Given the description of an element on the screen output the (x, y) to click on. 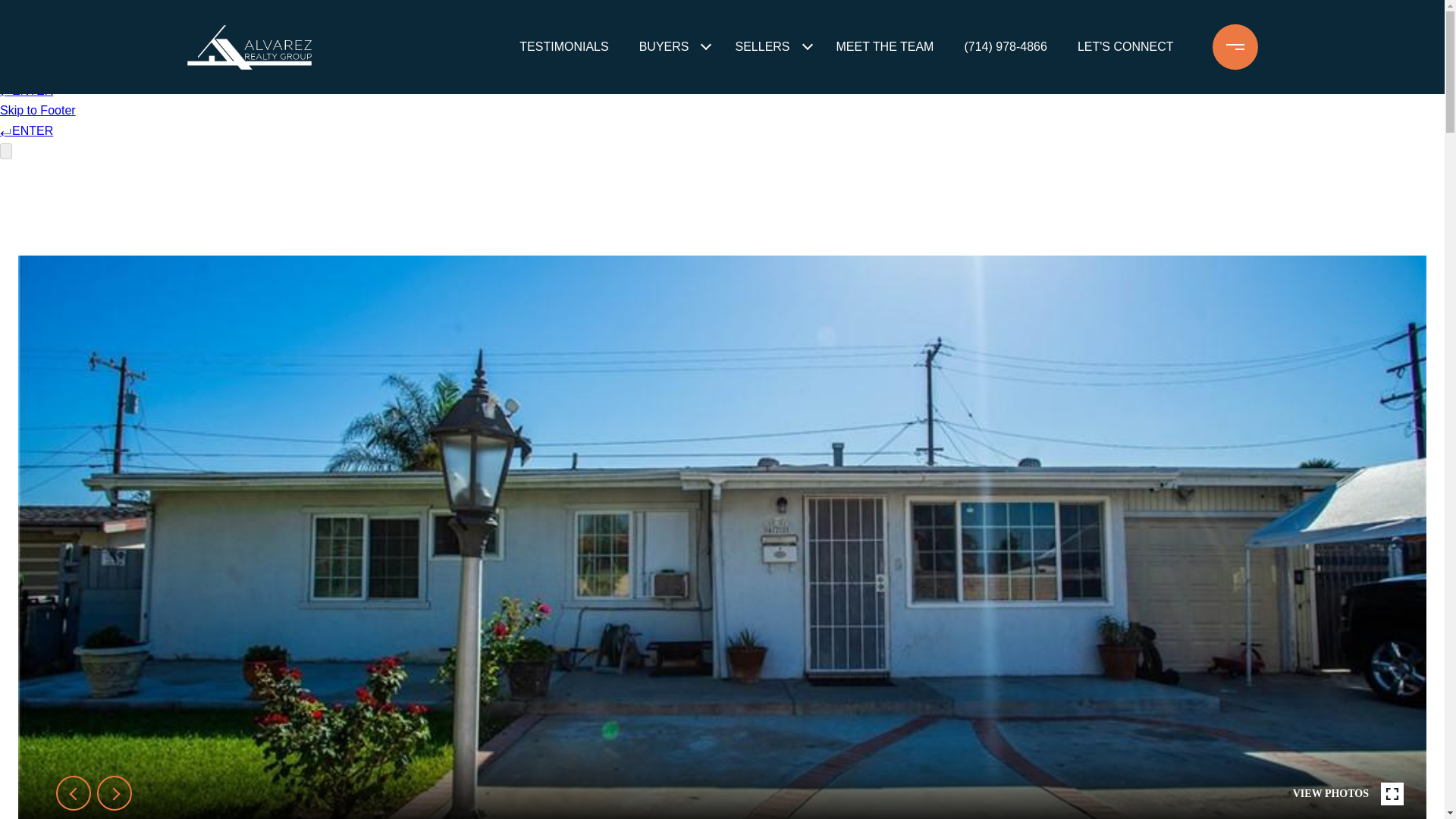
MEET THE TEAM (885, 46)
LET'S CONNECT (1125, 46)
TESTIMONIALS (563, 46)
prev (73, 792)
BUYERS (664, 46)
SELLERS (761, 46)
next (114, 792)
